Given the description of an element on the screen output the (x, y) to click on. 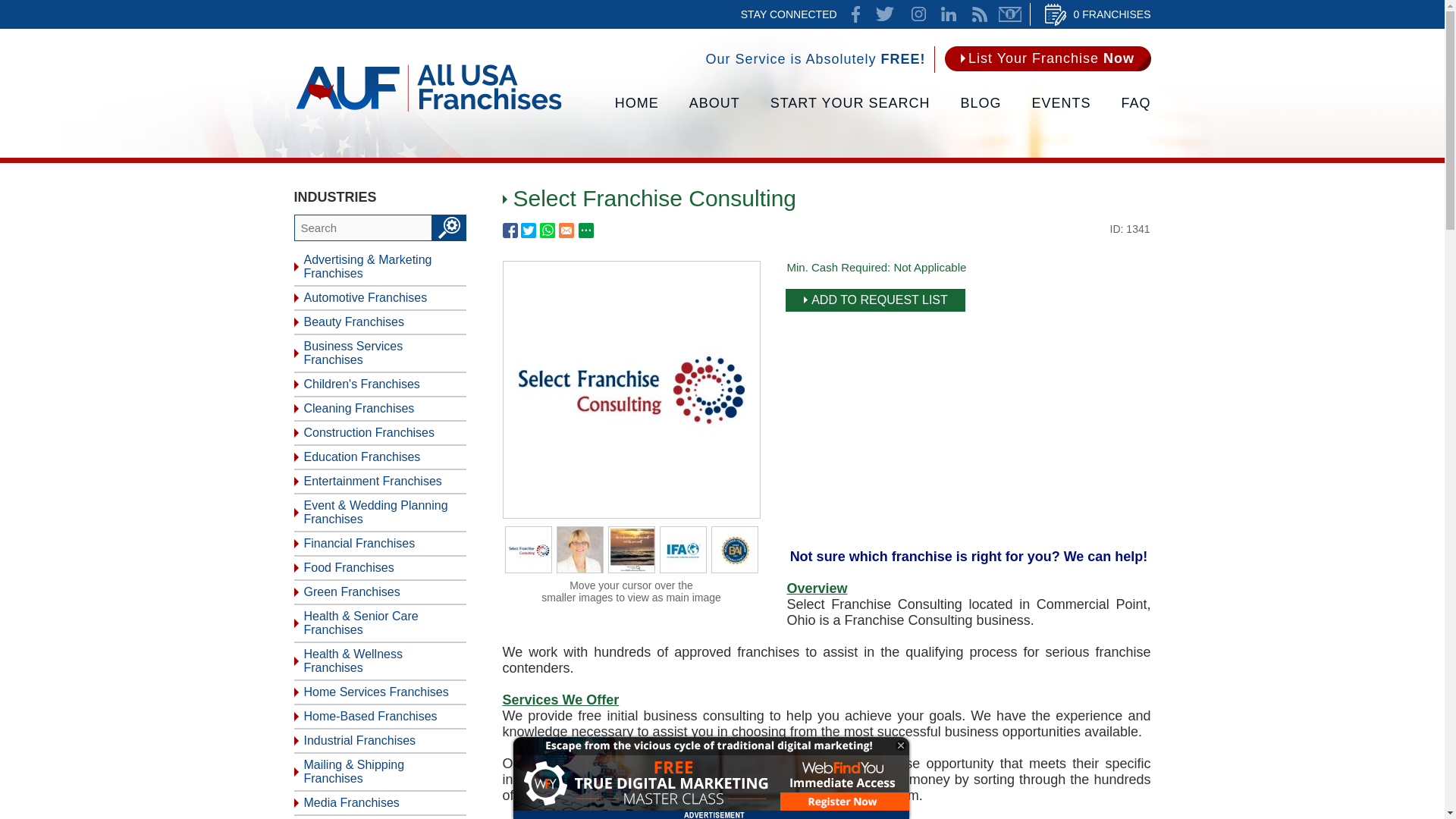
Financial Franchises (379, 544)
All USA Franchise Opportunities (636, 110)
Children's Franchises (379, 385)
BLOG (980, 110)
Cart (1098, 14)
Business Services Franchises (379, 353)
Entertainment Franchises (379, 482)
Cleaning Franchises (379, 409)
Newsletter (1010, 14)
Automotive Franchises (379, 298)
EVENTS (1060, 110)
Food Franchises (379, 568)
Construction Franchises (379, 433)
All USA Franchise Opportunities (428, 109)
News Feed (979, 14)
